Given the description of an element on the screen output the (x, y) to click on. 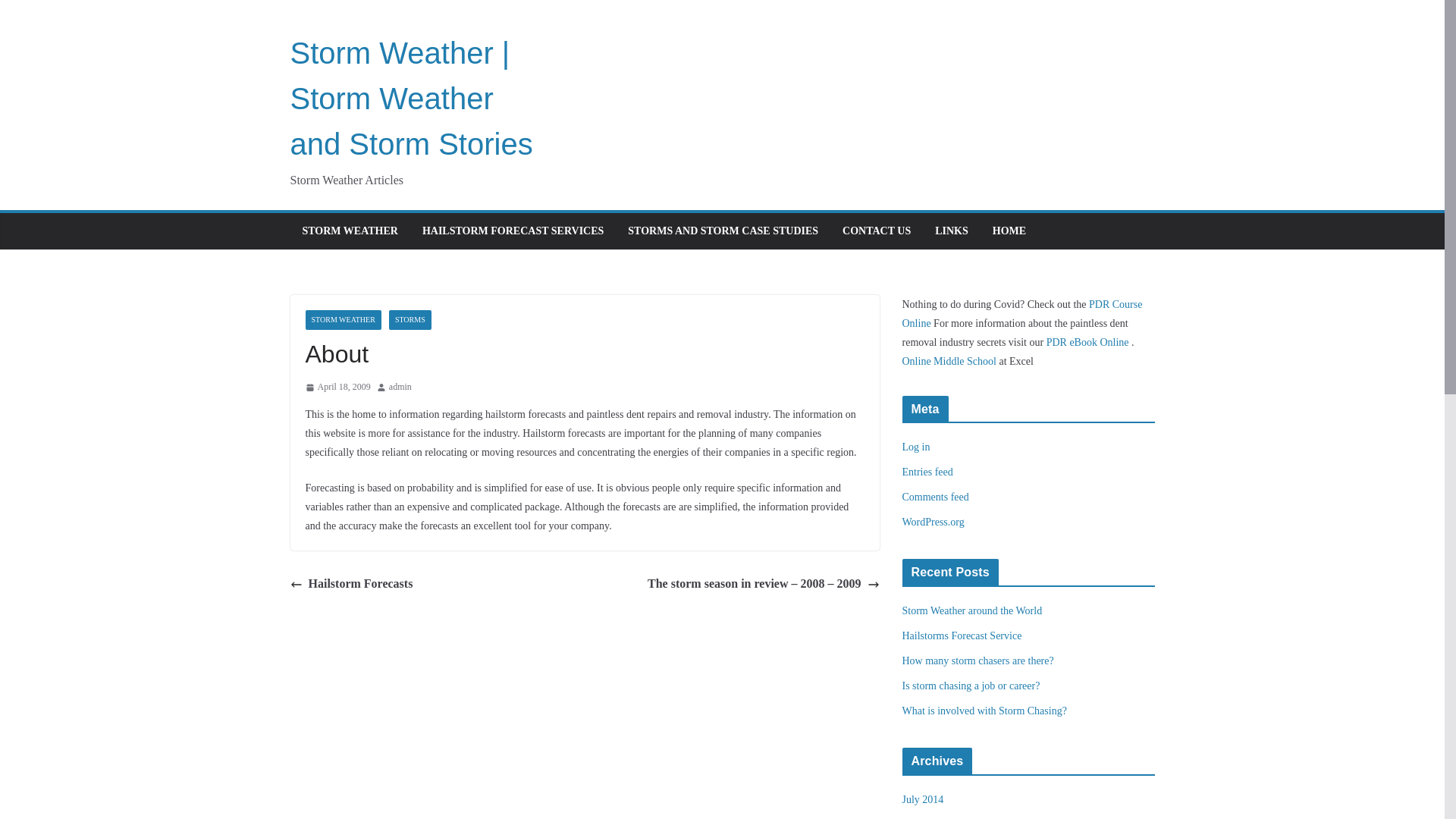
Is storm chasing a job or career? (971, 685)
July 2014 (922, 799)
What is involved with Storm Chasing? (984, 710)
Comments feed (935, 496)
Storm Weather around the World (972, 610)
6:20 am (336, 387)
CONTACT US (877, 230)
Entries feed (927, 471)
admin (400, 387)
Hailstorms Forecast Service (962, 635)
